Given the description of an element on the screen output the (x, y) to click on. 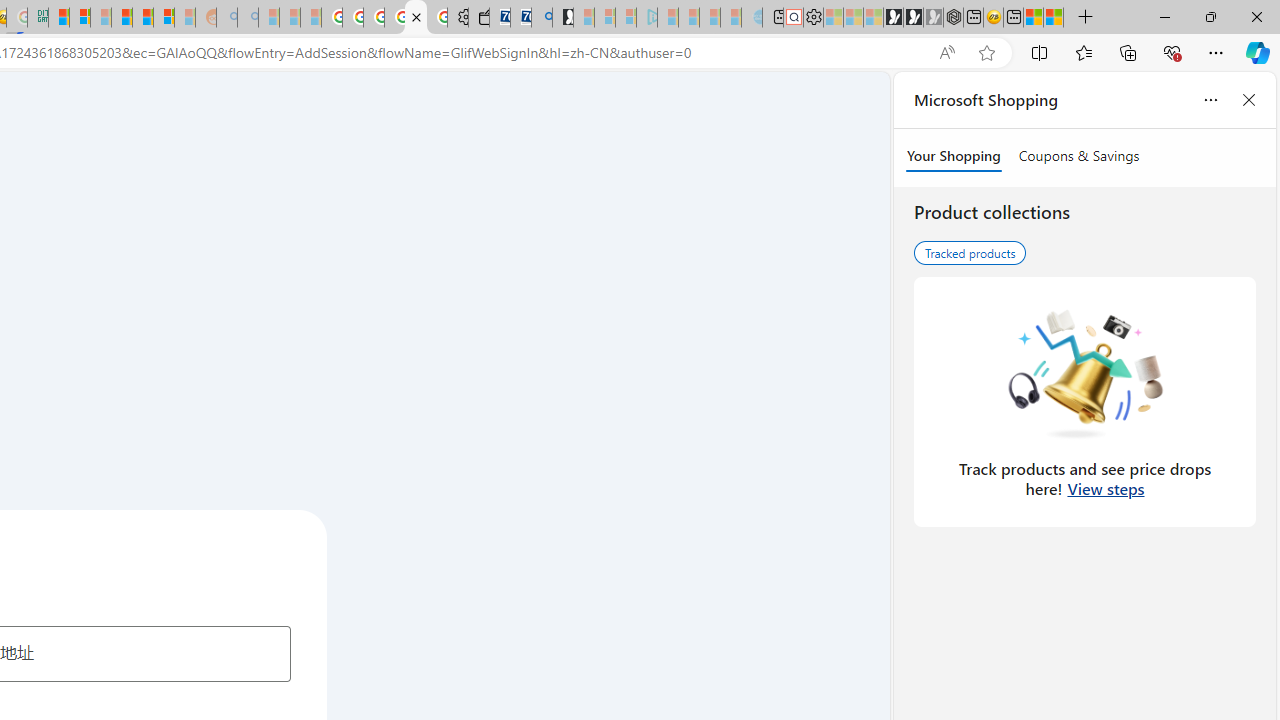
Wildlife - MSN (1033, 17)
